Given the description of an element on the screen output the (x, y) to click on. 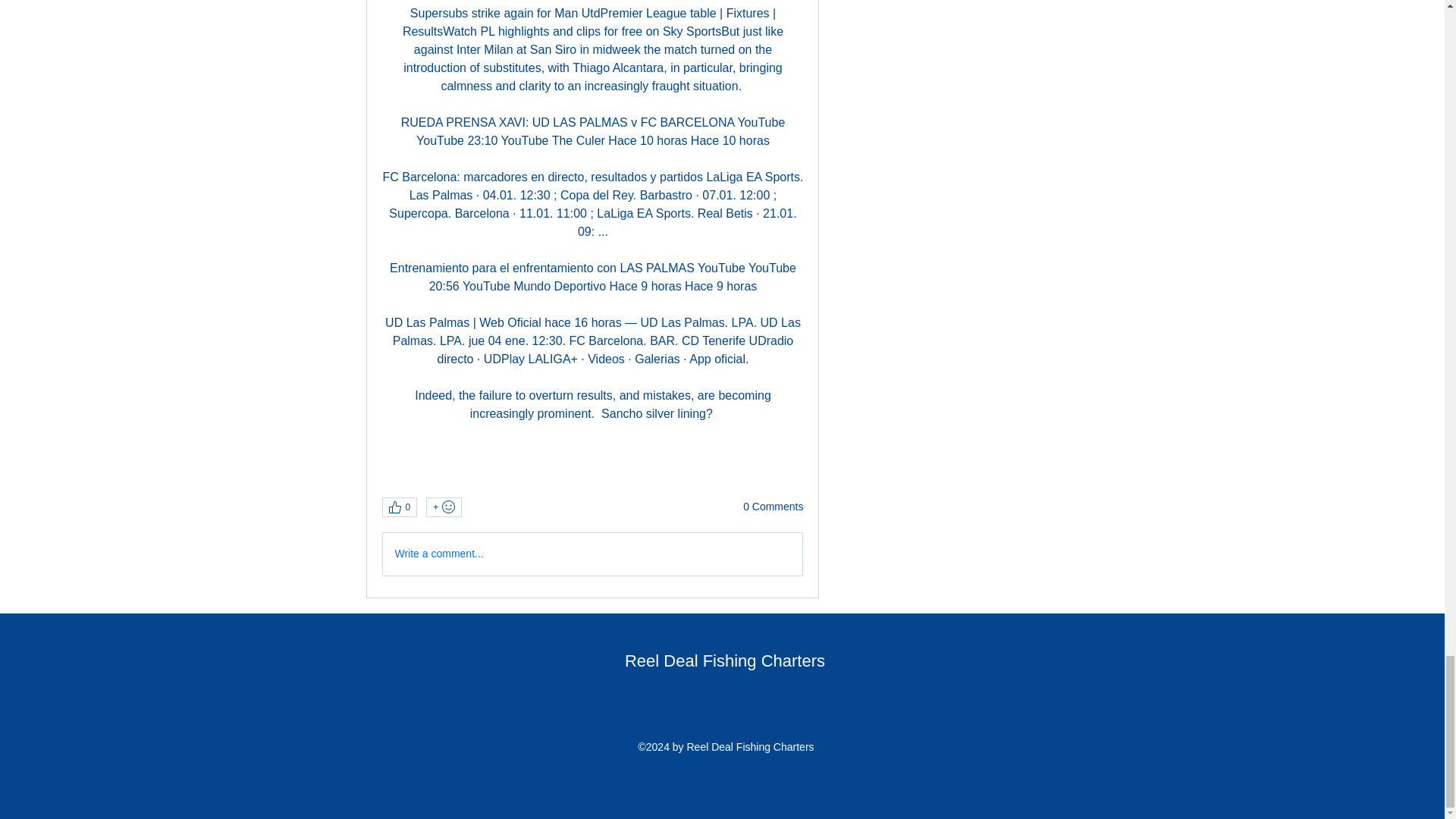
0 Comments (772, 507)
Reel Deal Fishing Charters (724, 660)
Write a comment... (591, 554)
